Given the description of an element on the screen output the (x, y) to click on. 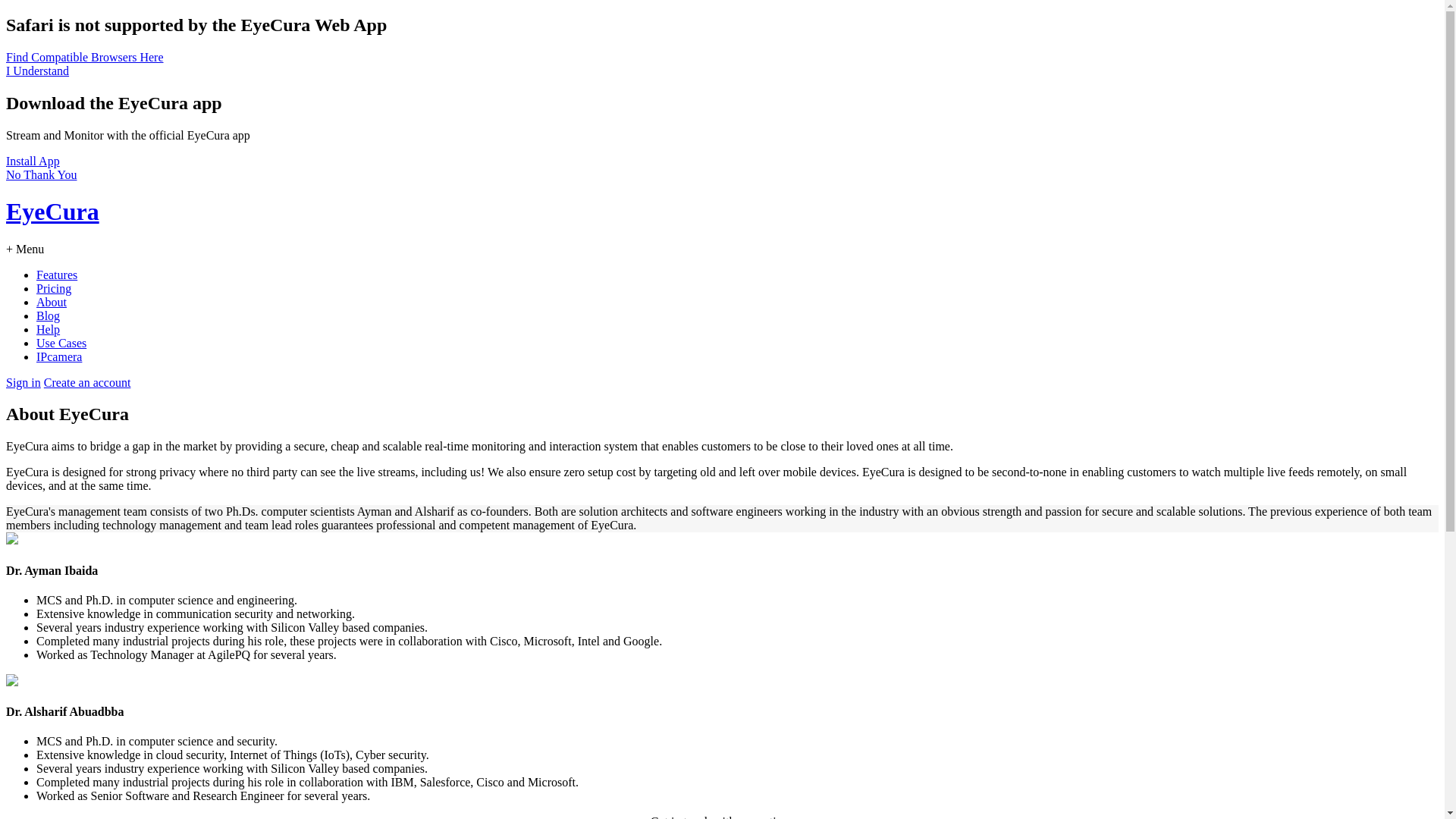
Features Element type: text (56, 274)
Install App Element type: text (32, 160)
IPcamera Element type: text (58, 356)
I Understand Element type: text (37, 70)
No Thank You Element type: text (41, 174)
Use Cases Element type: text (61, 342)
Blog Element type: text (47, 315)
About Element type: text (51, 301)
+ Menu Element type: text (24, 248)
Pricing Element type: text (53, 288)
Find Compatible Browsers Here Element type: text (84, 56)
Create an account Element type: text (87, 382)
EyeCura Element type: text (722, 225)
Sign in Element type: text (23, 382)
Help Element type: text (47, 329)
